Given the description of an element on the screen output the (x, y) to click on. 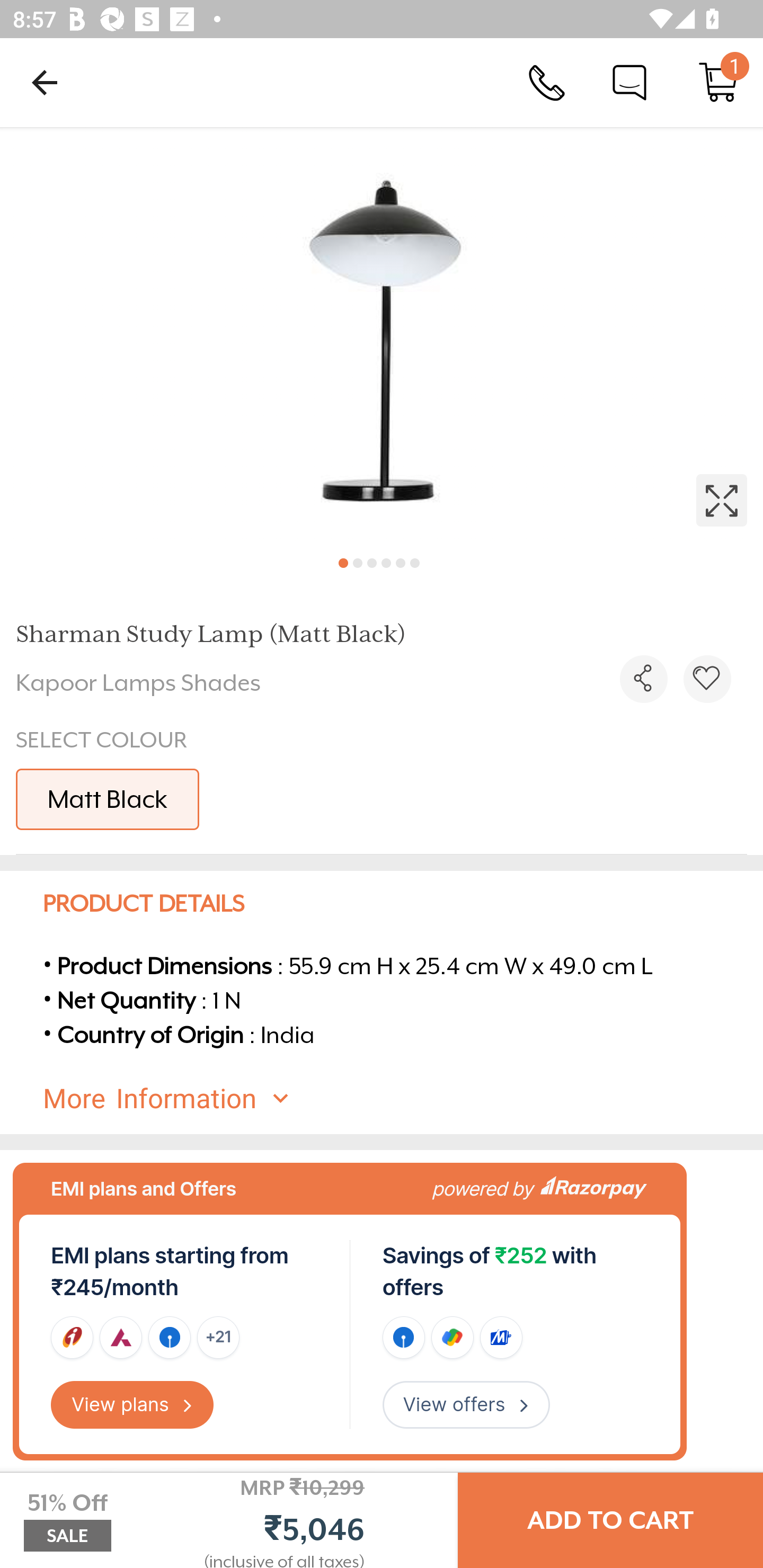
Navigate up (44, 82)
Call Us (546, 81)
Chat (629, 81)
Cart (718, 81)
 (381, 334)
 (643, 678)
 (706, 678)
Matt Black (107, 798)
More Information  (396, 1098)
View plans (132, 1404)
View offers (465, 1404)
ADD TO CART (610, 1520)
